Given the description of an element on the screen output the (x, y) to click on. 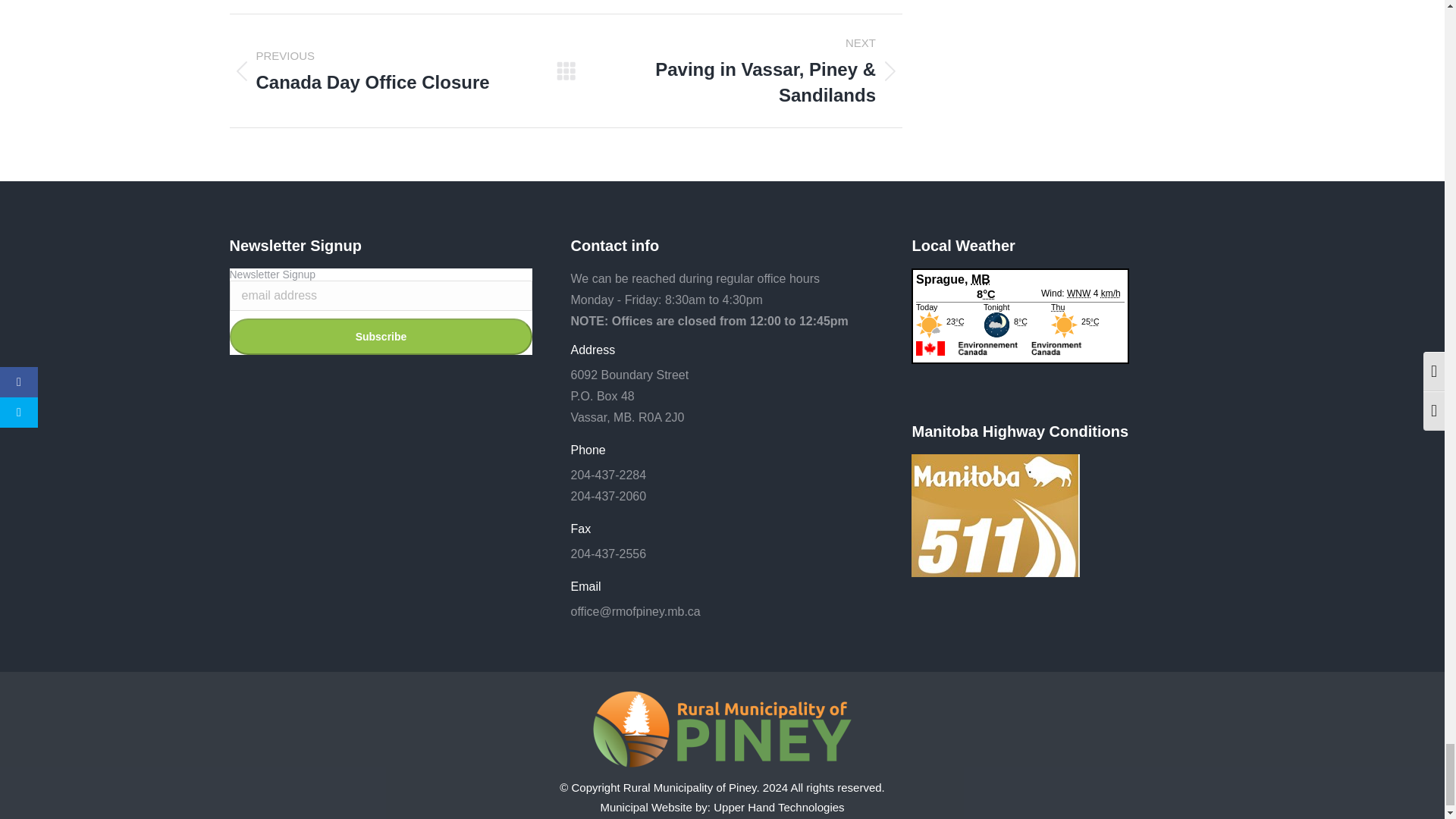
Subscribe (380, 336)
Environment Canada Weather (1020, 340)
